Given the description of an element on the screen output the (x, y) to click on. 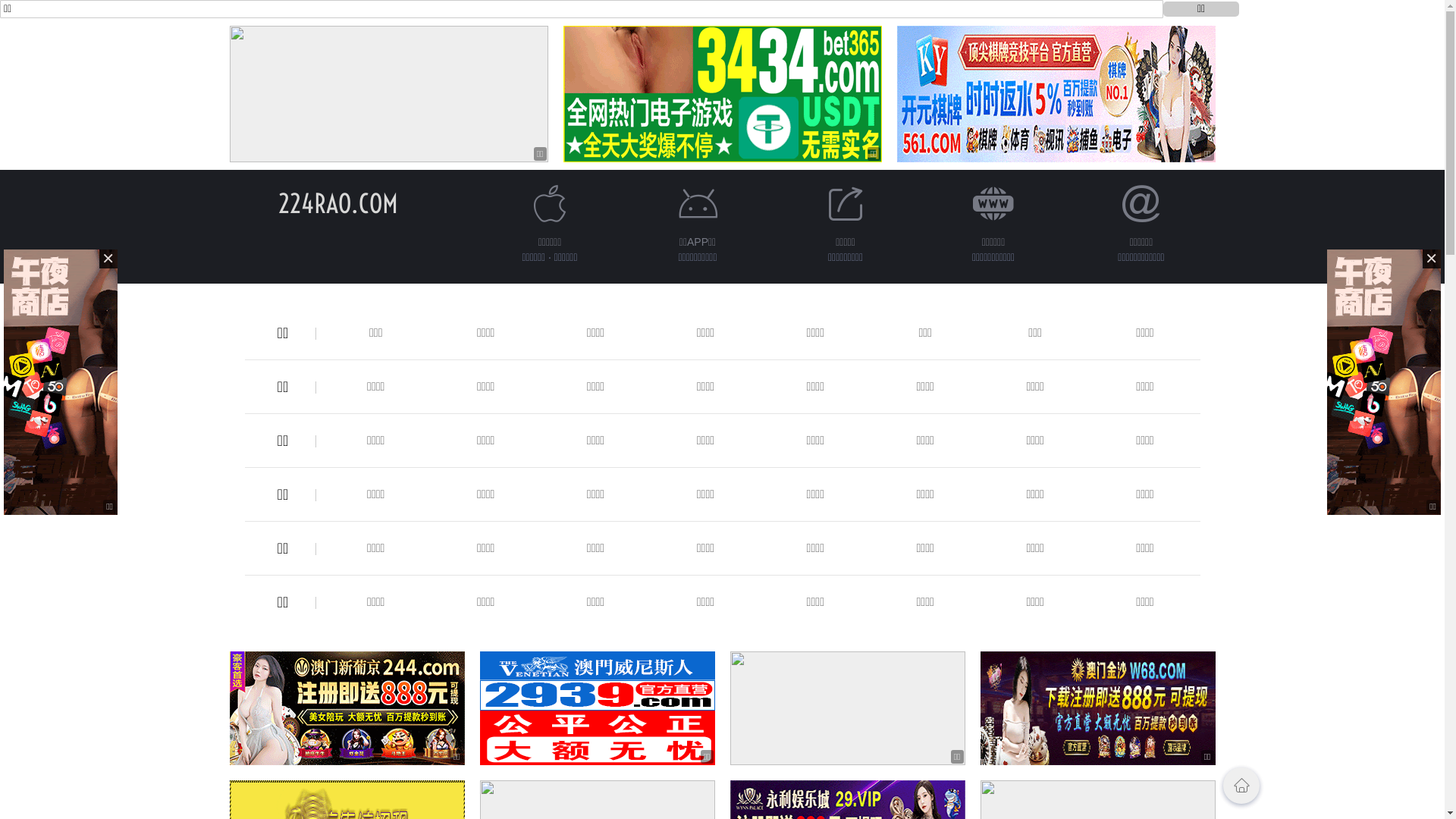
224RAO.COM Element type: text (337, 203)
